Given the description of an element on the screen output the (x, y) to click on. 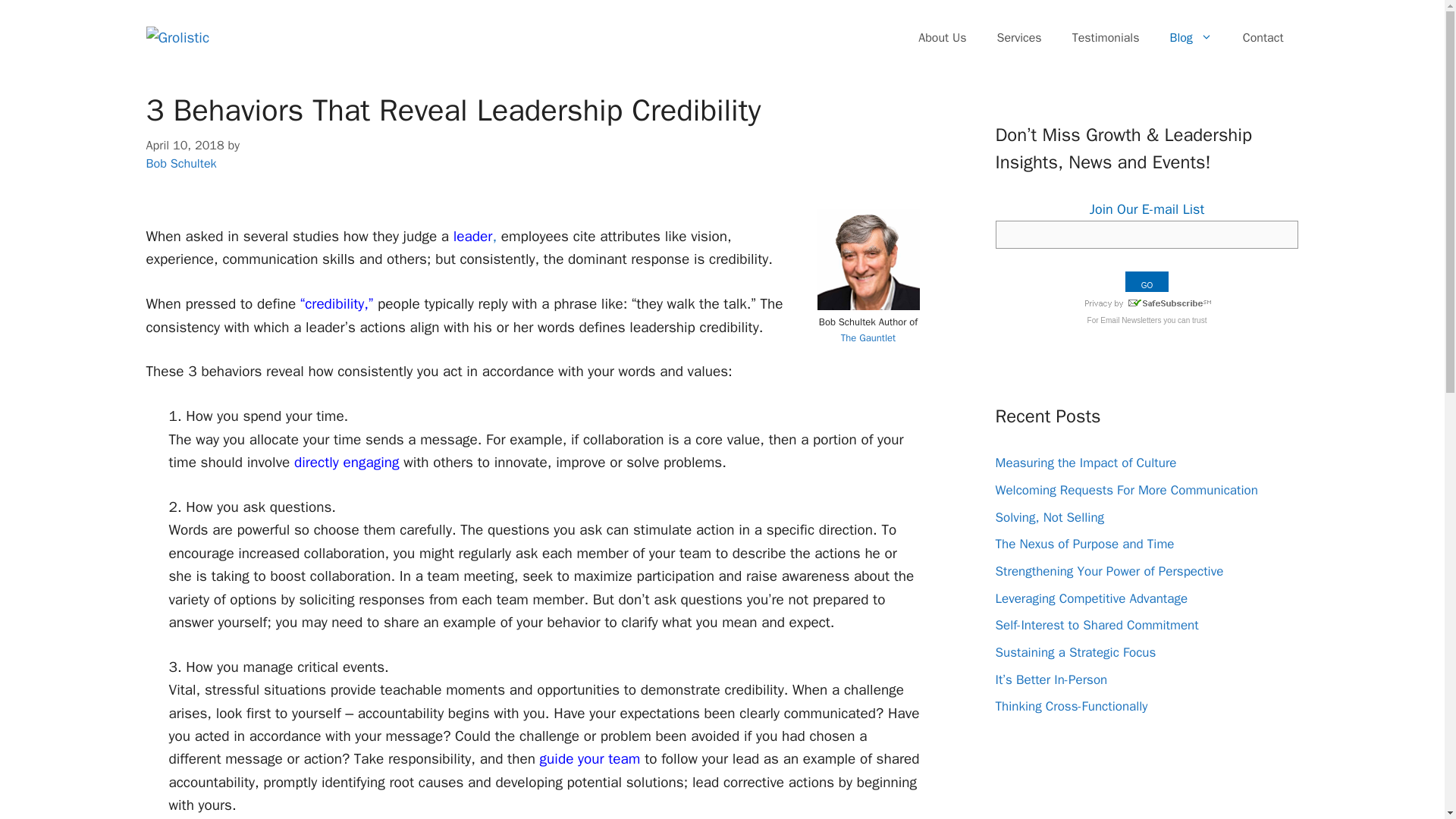
About Us (941, 37)
GO (1147, 281)
guide your team (590, 759)
Blog (1190, 37)
Measuring the Impact of Culture (1085, 462)
directly engaging (346, 462)
leader, (474, 236)
GO (1147, 281)
Bob Schultek (180, 163)
Contact (1262, 37)
